Given the description of an element on the screen output the (x, y) to click on. 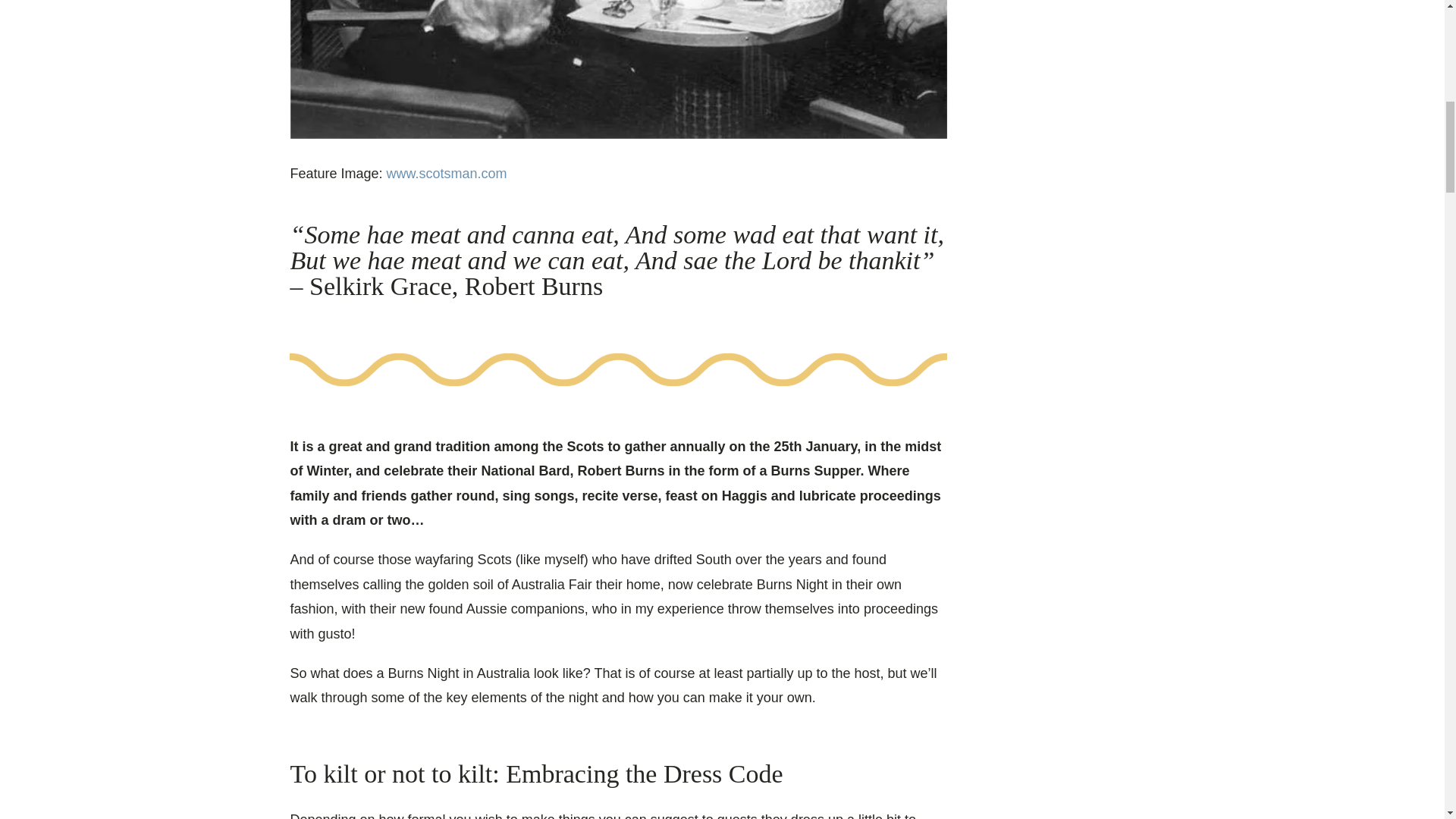
View Larger Image (617, 69)
www.scotsman.com (446, 173)
wave-divider-gold (617, 368)
